Given the description of an element on the screen output the (x, y) to click on. 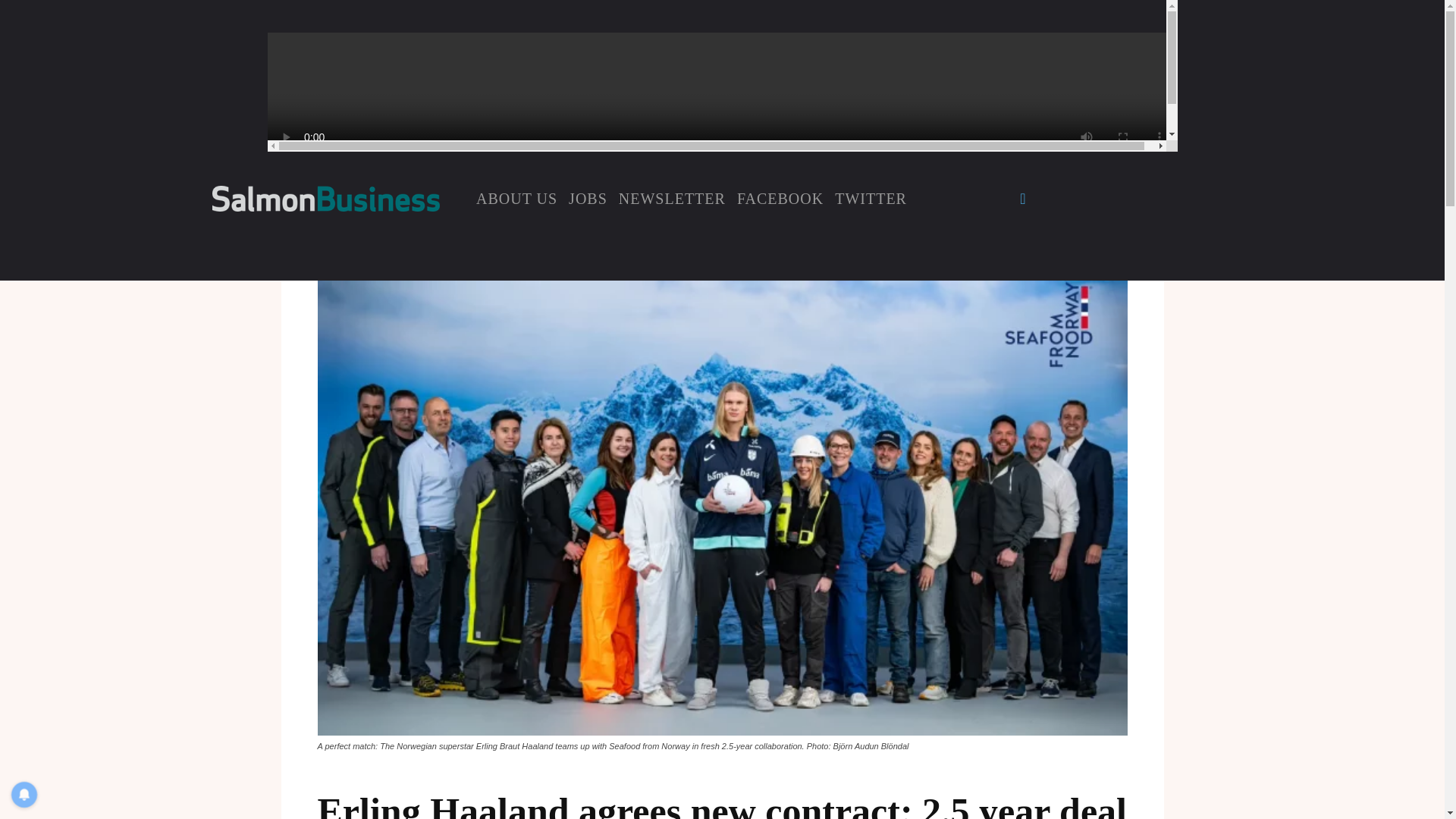
NEWSLETTER (671, 198)
FACEBOOK (780, 198)
ABOUT US (516, 198)
